Given the description of an element on the screen output the (x, y) to click on. 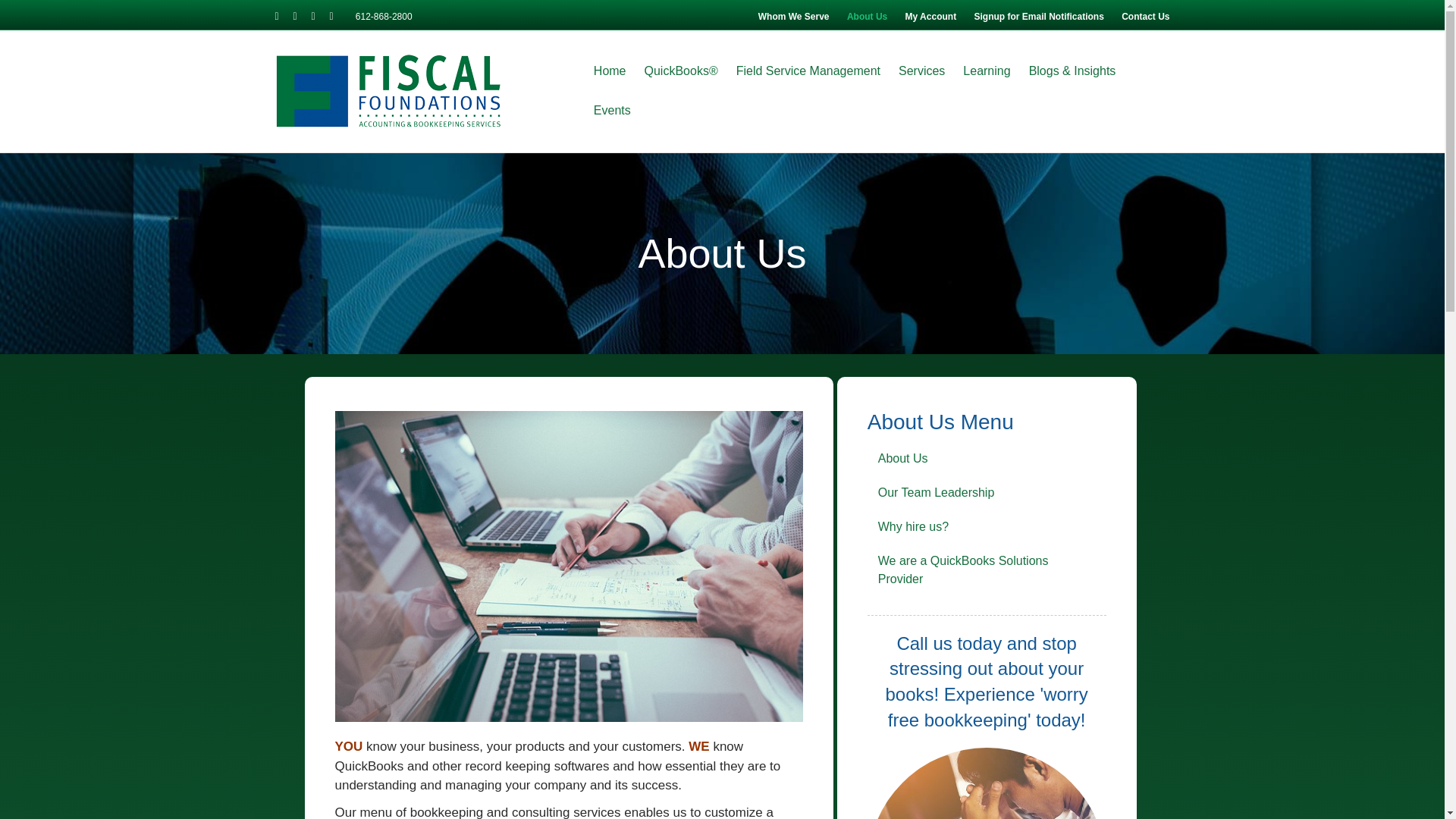
Signup for Email Notifications (1038, 16)
stressed-out (986, 783)
Linkedin (301, 15)
My Account (930, 16)
Youtube (320, 15)
Whom We Serve (794, 16)
Email (338, 15)
Facebook (283, 15)
Home (609, 70)
Contact Us (1144, 16)
About Us (867, 16)
